Given the description of an element on the screen output the (x, y) to click on. 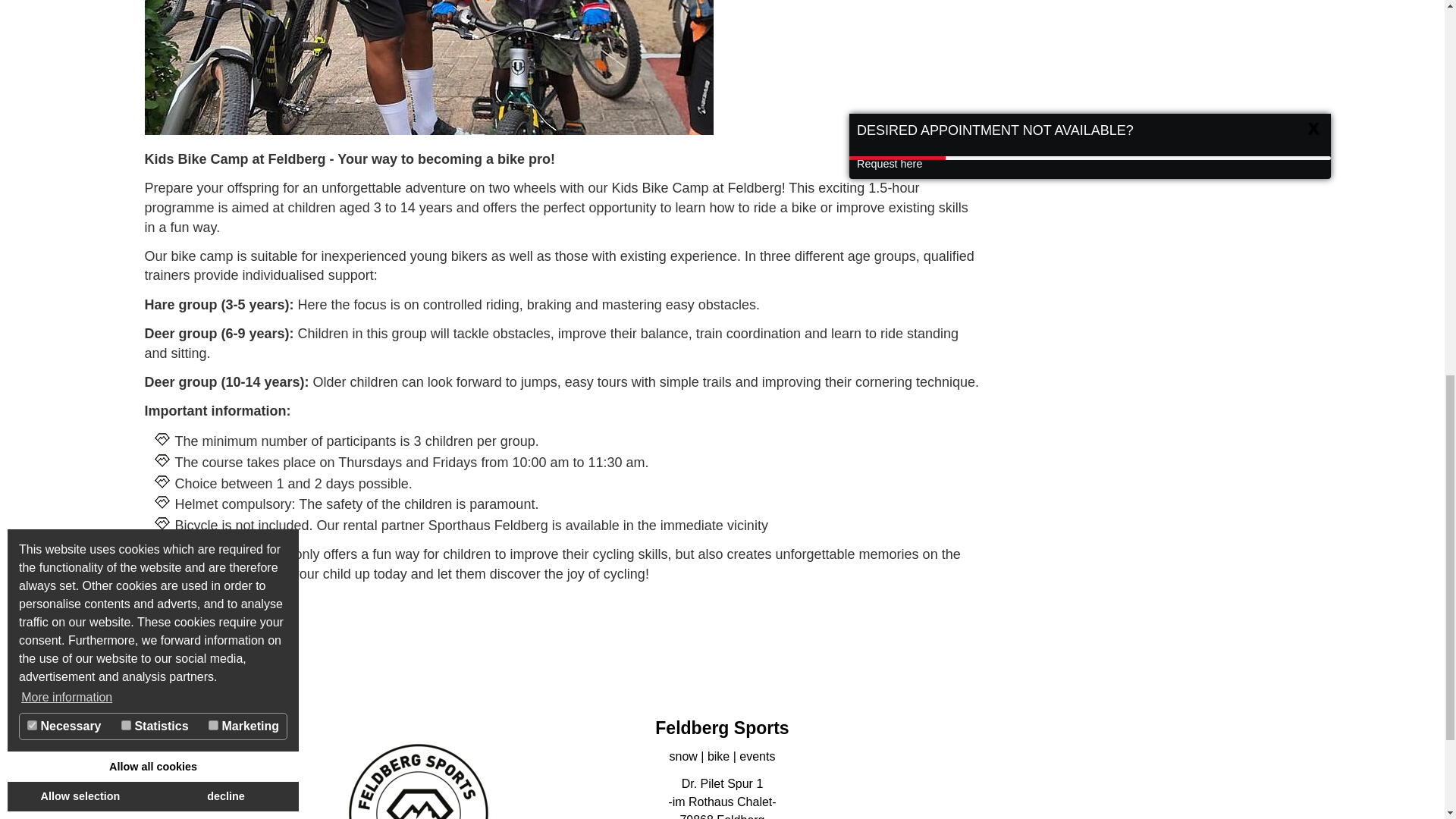
Back (168, 650)
